Given the description of an element on the screen output the (x, y) to click on. 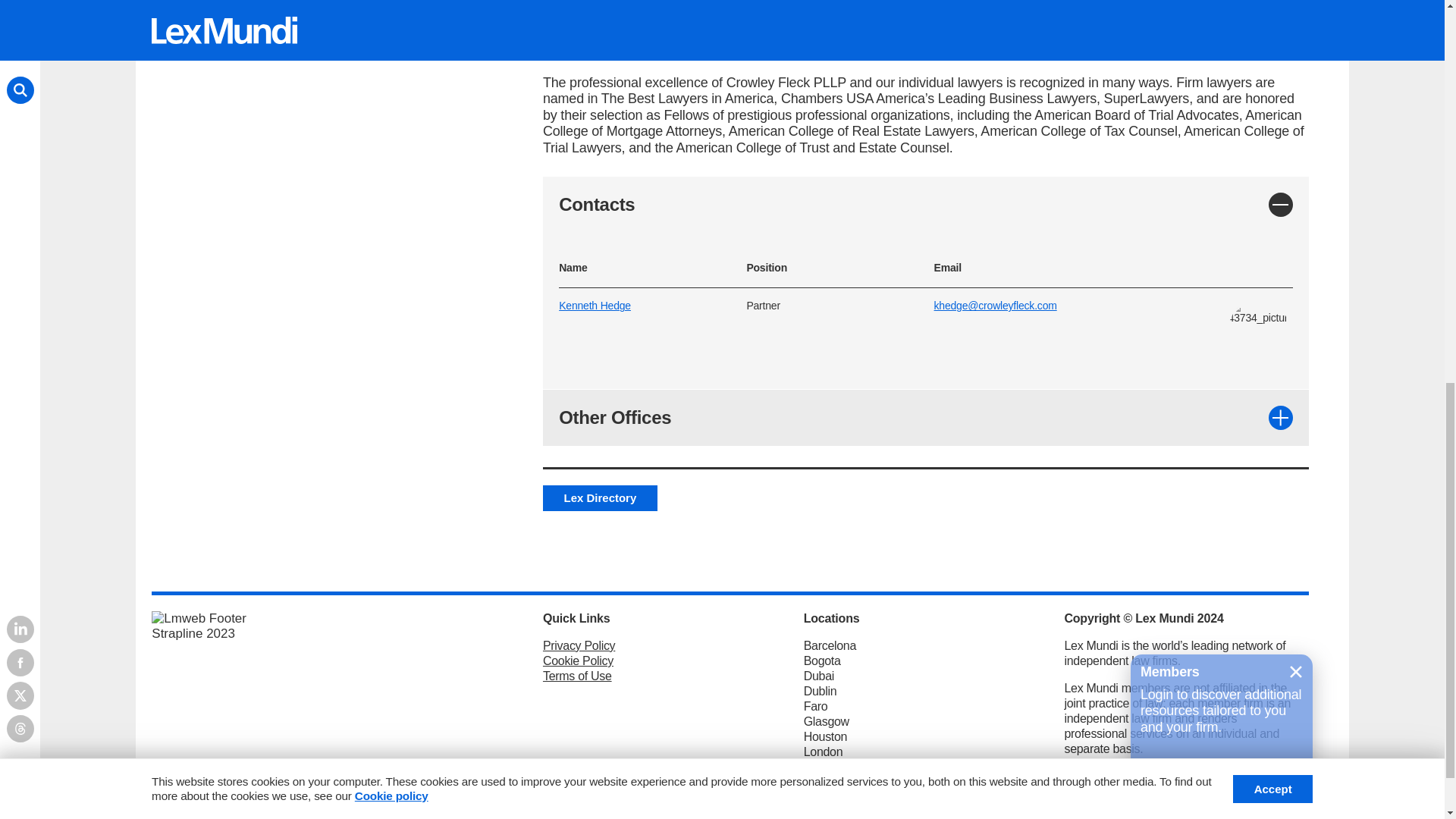
Accept (1273, 17)
Member Login (1253, 16)
Events (772, 23)
Responsibility (488, 102)
Contact (855, 23)
Lex Mundi (184, 23)
Successes (488, 71)
Member Firms (304, 23)
Cookie policy (391, 23)
Resources (678, 23)
About (488, 40)
News (488, 134)
Lex Directory (434, 23)
Global Reach (560, 23)
